Given the description of an element on the screen output the (x, y) to click on. 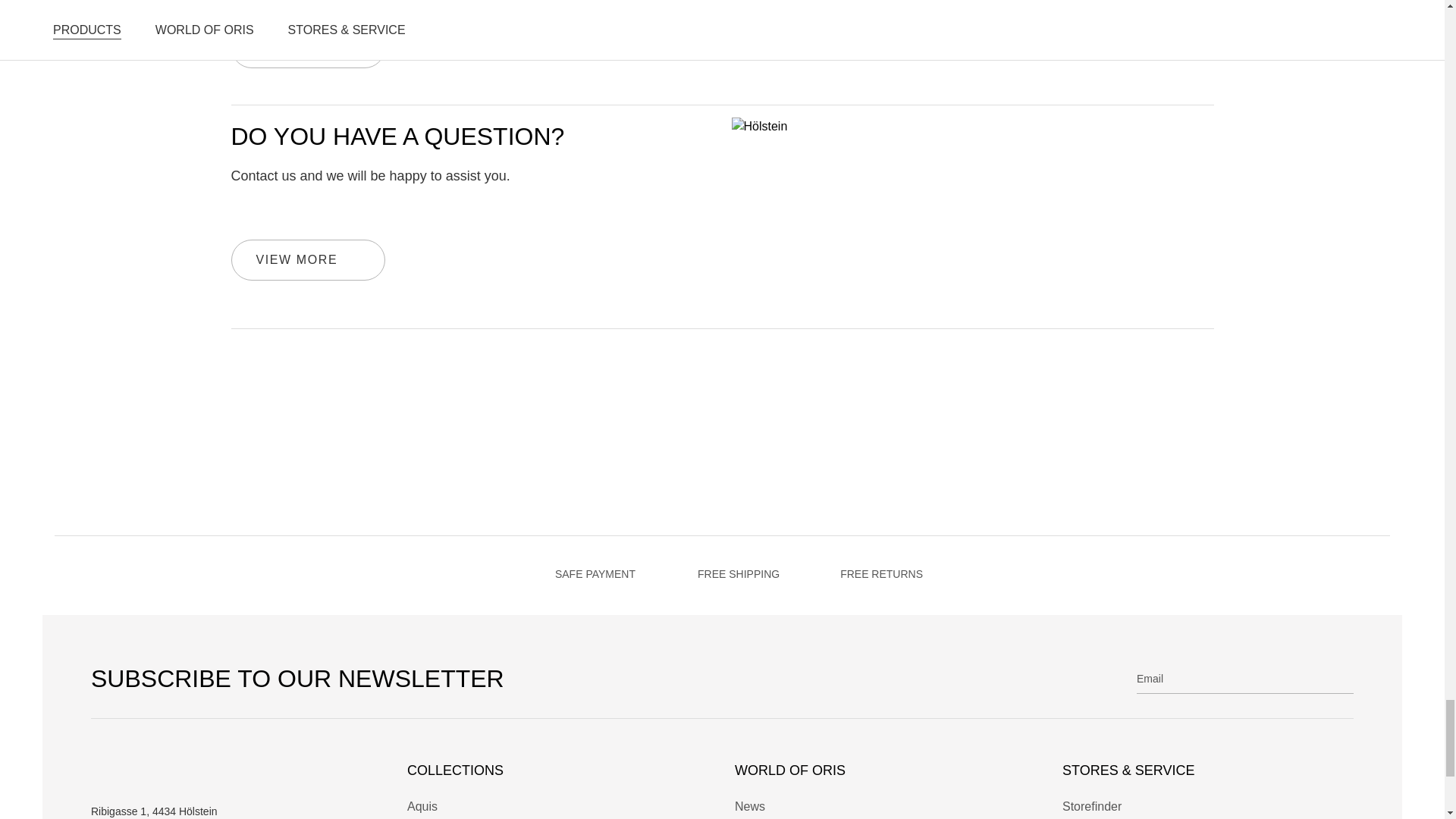
COLLECTIONS (552, 770)
VIEW MORE (307, 259)
VIEW MORE (307, 47)
Go to homepage (211, 773)
